Given the description of an element on the screen output the (x, y) to click on. 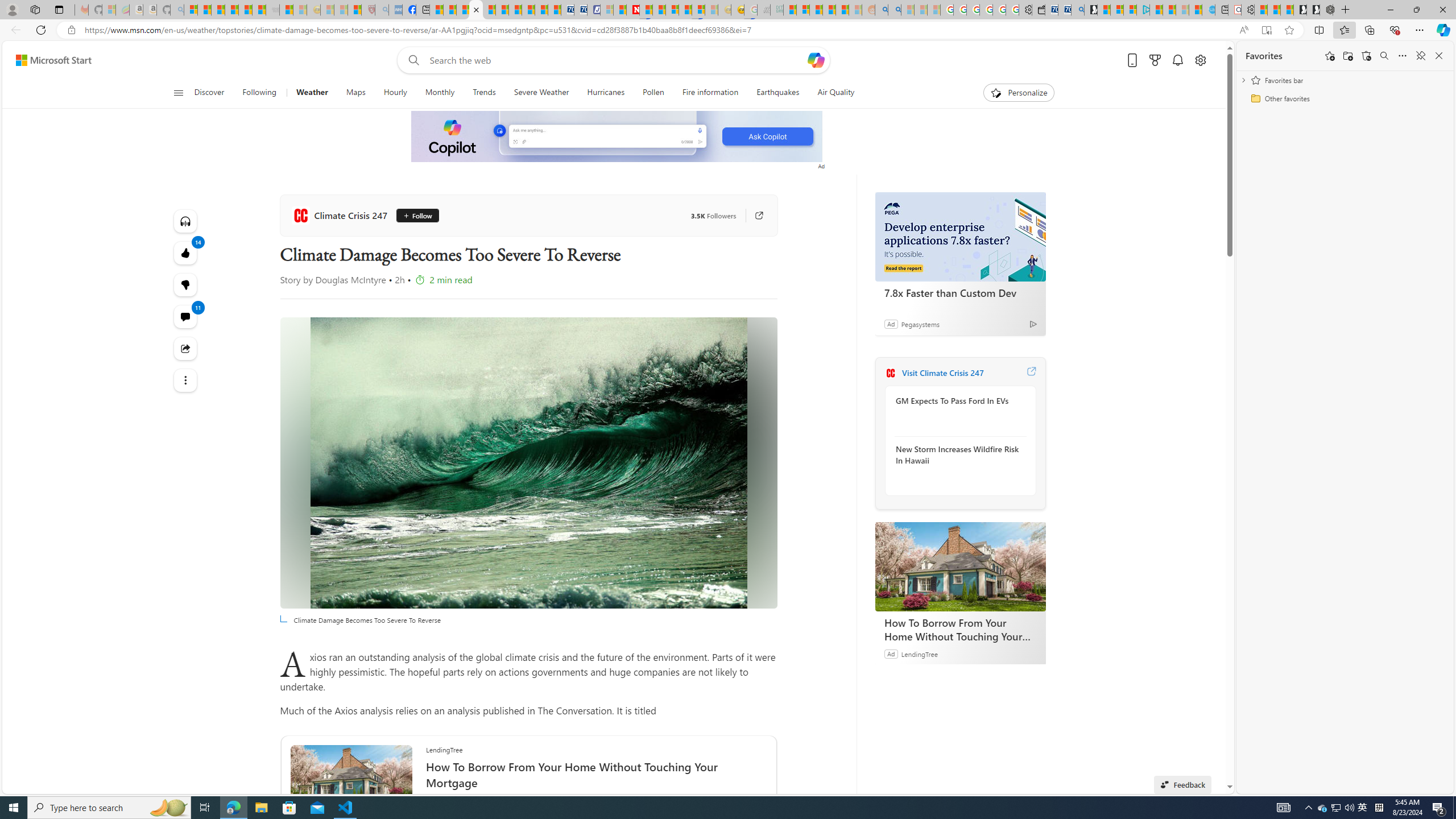
Close favorites (1439, 55)
Cheap Hotels - Save70.com (580, 9)
Pegasystems (920, 323)
Enter your search term (617, 59)
Earthquakes (777, 92)
Earthquakes (778, 92)
Monthly (440, 92)
